Given the description of an element on the screen output the (x, y) to click on. 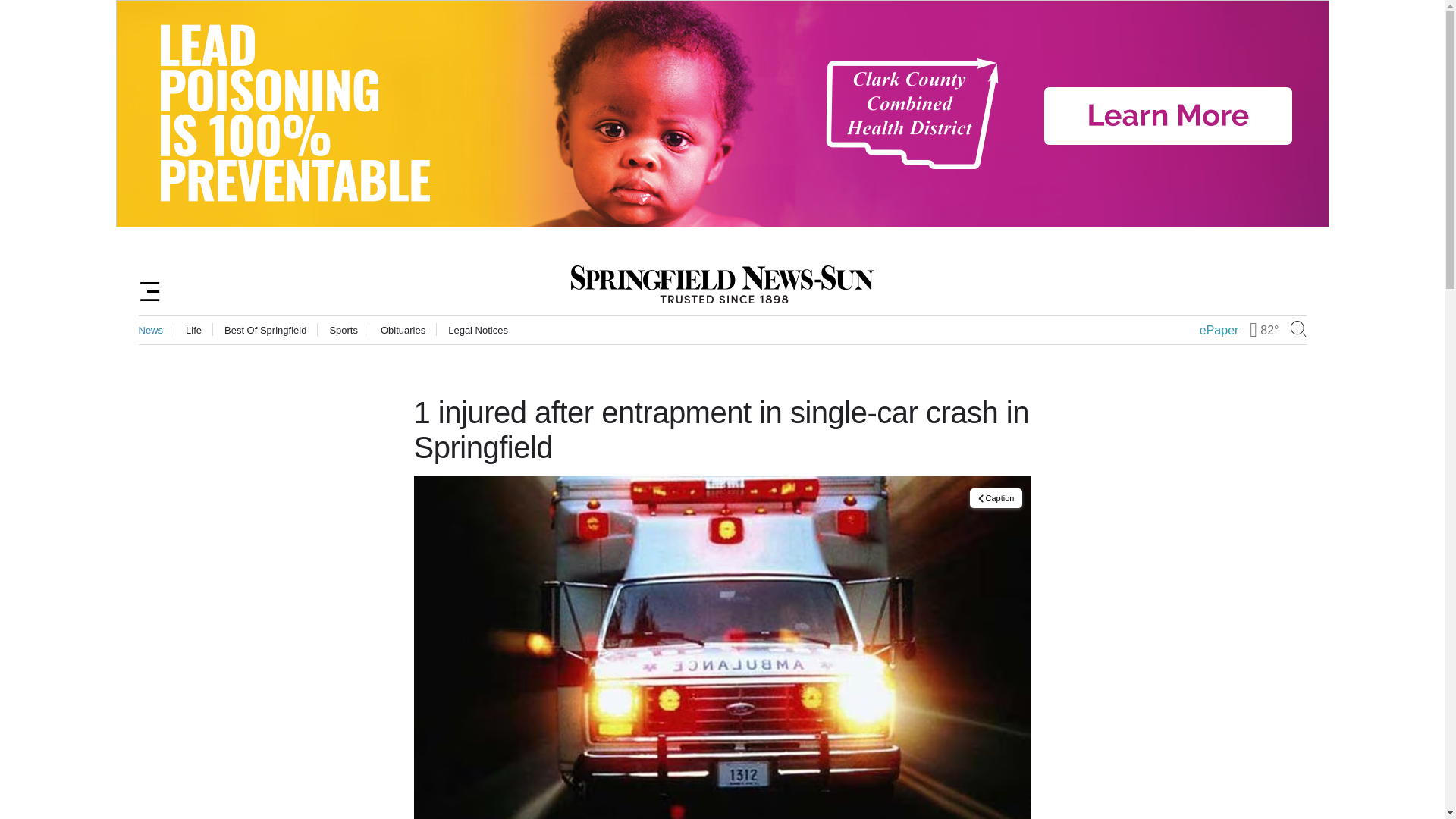
Sports (343, 329)
Life (194, 329)
News (150, 329)
Legal Notices (478, 329)
ePaper (1219, 330)
Obituaries (402, 329)
Best Of Springfield (264, 329)
